Given the description of an element on the screen output the (x, y) to click on. 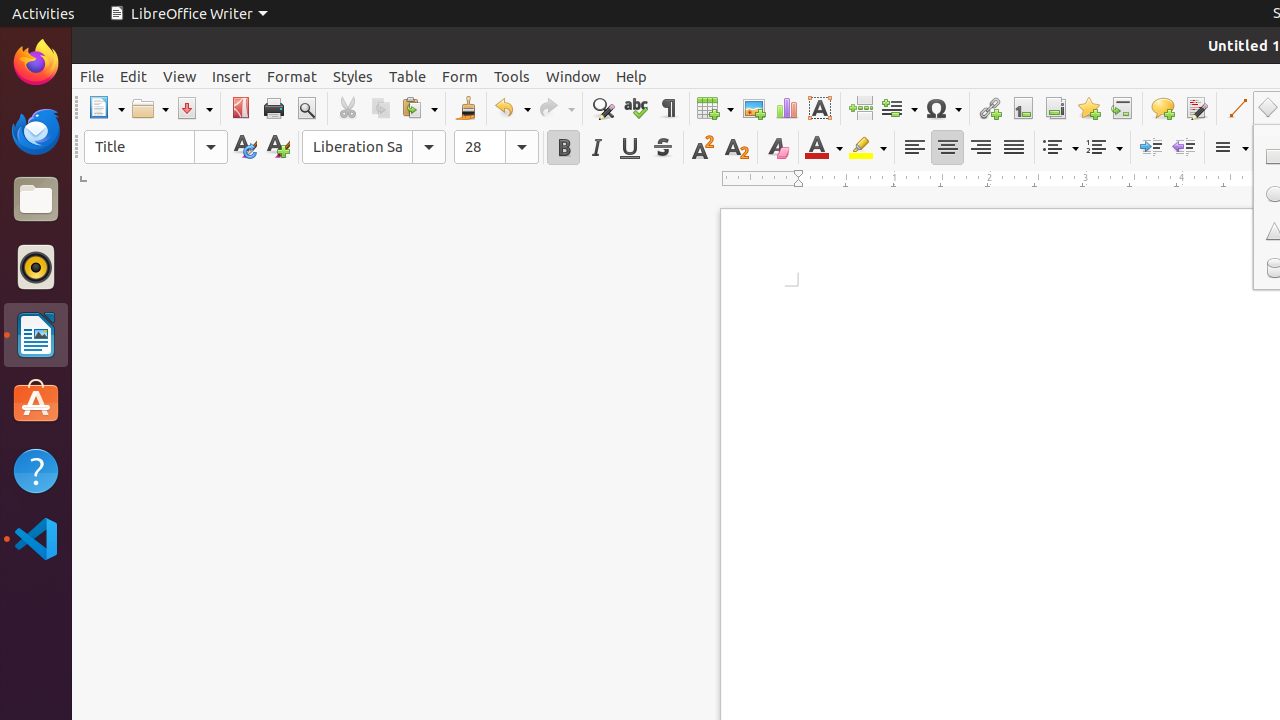
Format Element type: menu (292, 76)
Spelling Element type: push-button (635, 108)
Chart Element type: push-button (786, 108)
Italic Element type: toggle-button (596, 147)
Endnote Element type: push-button (1055, 108)
